Given the description of an element on the screen output the (x, y) to click on. 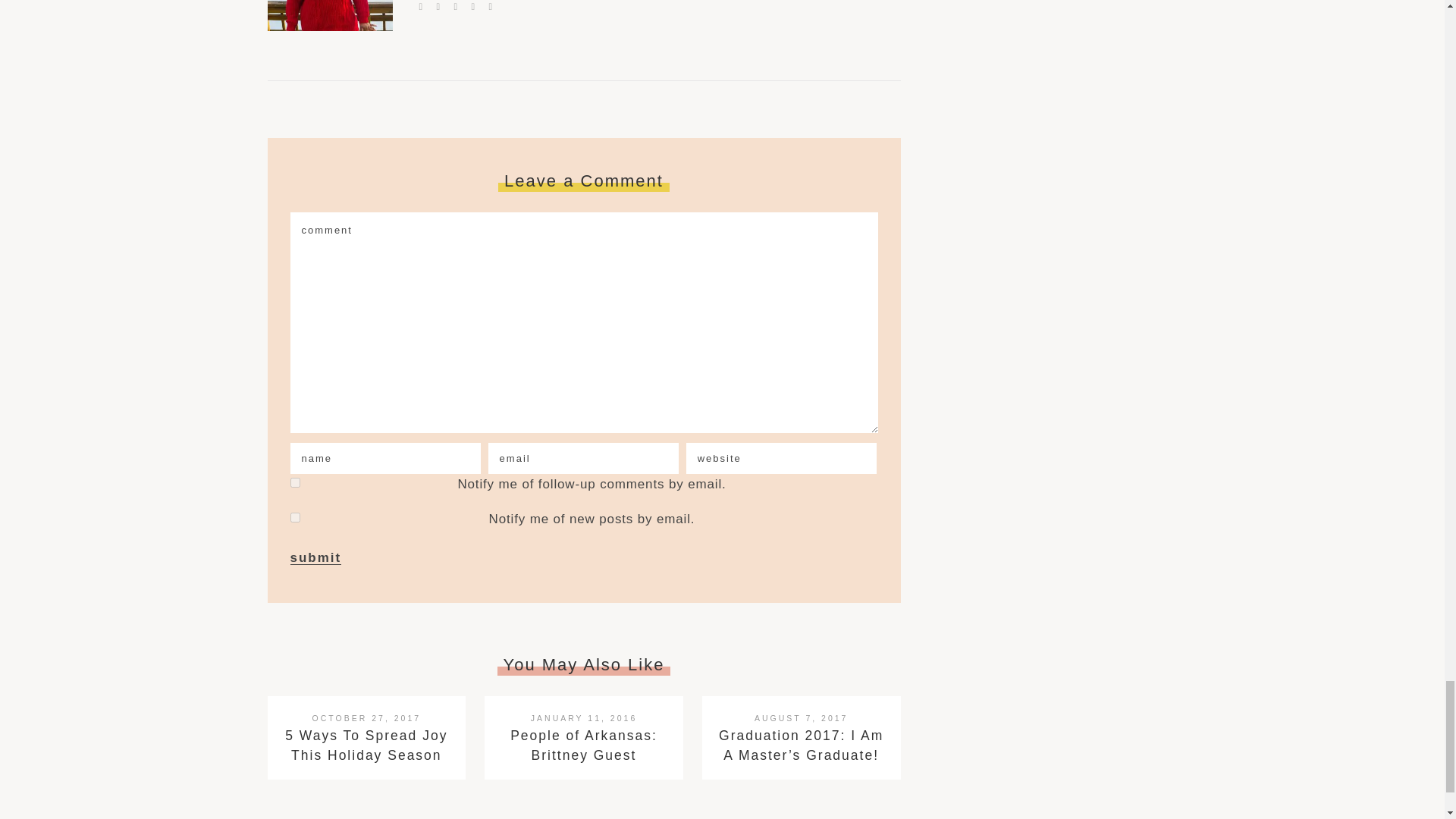
Submit (314, 558)
5 Ways To Spread Joy This Holiday Season (365, 745)
People of Arkansas: Brittney Guest (584, 745)
subscribe (294, 482)
Submit (314, 558)
subscribe (294, 517)
